Given the description of an element on the screen output the (x, y) to click on. 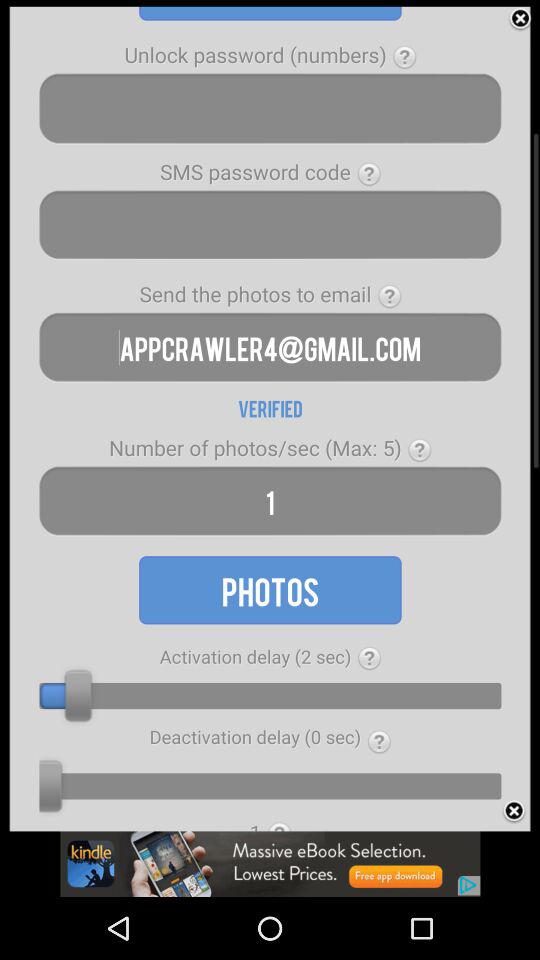
text box for password (270, 108)
